Given the description of an element on the screen output the (x, y) to click on. 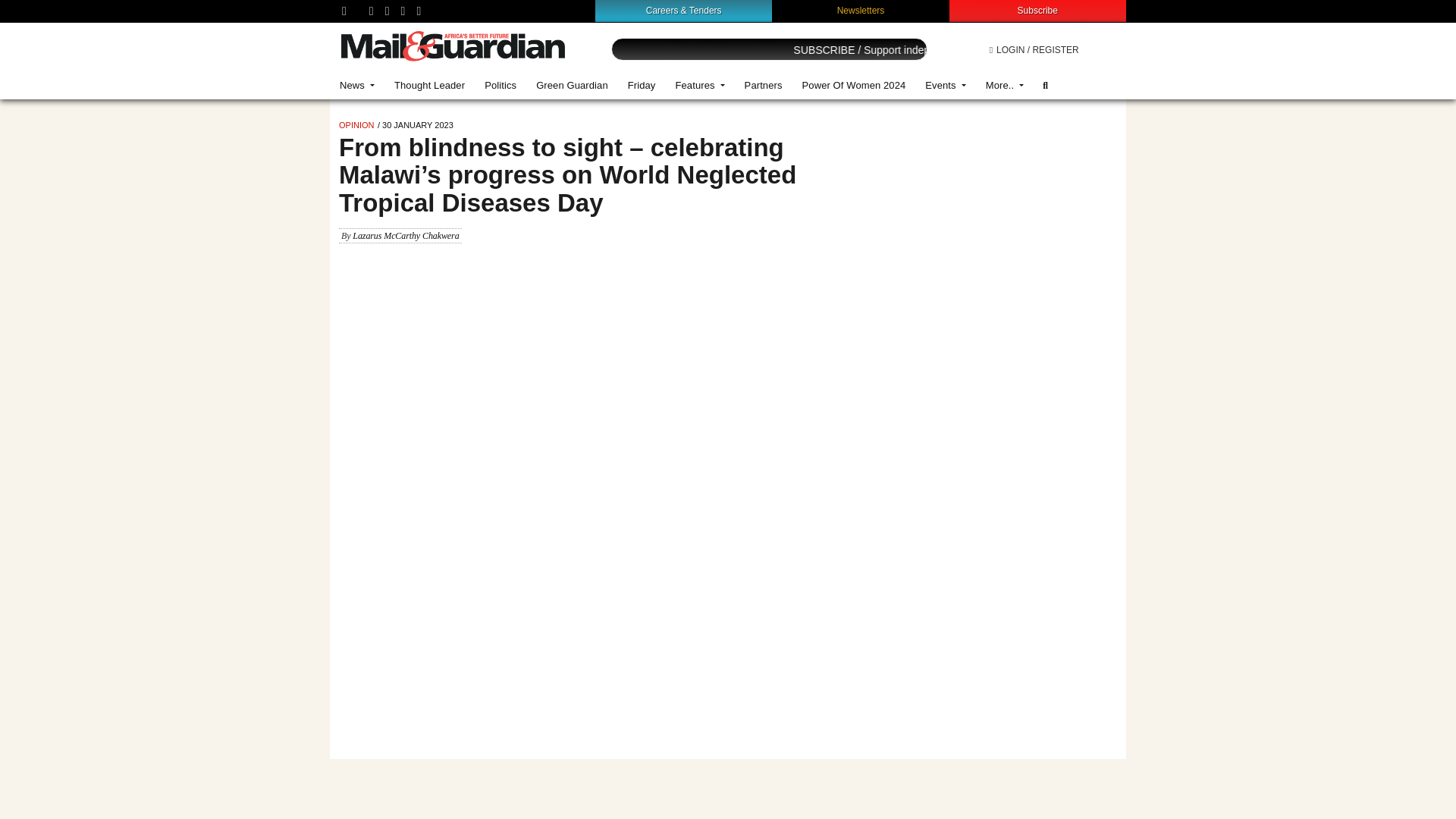
Newsletters (861, 9)
Politics (499, 85)
Friday (641, 85)
Subscribe (1037, 9)
News (357, 85)
Green Guardian (571, 85)
News (357, 85)
Thought Leader (429, 85)
Features (699, 85)
